Given the description of an element on the screen output the (x, y) to click on. 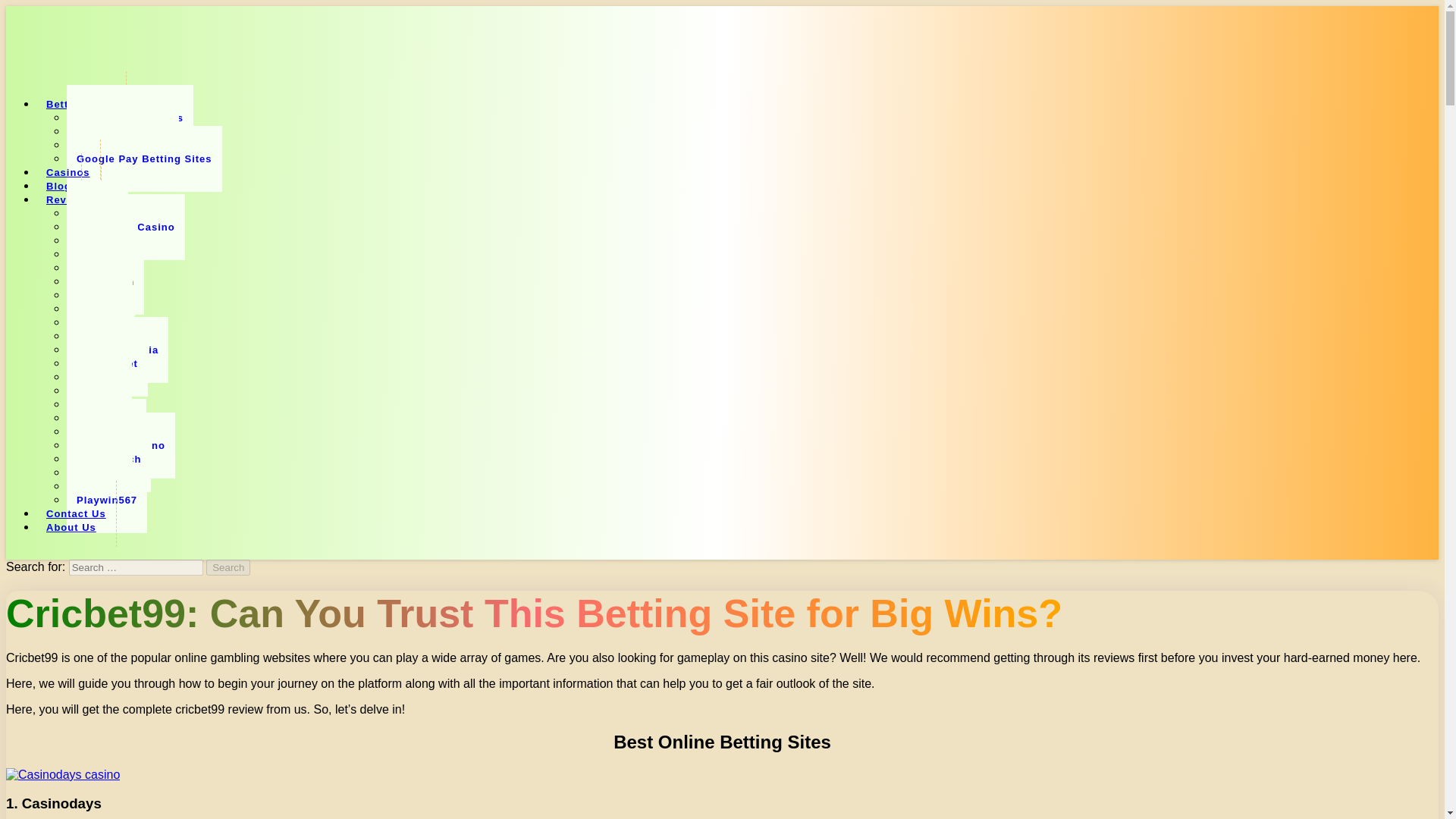
KheloExch (105, 281)
Dreamexch (106, 431)
24Betting (102, 268)
Betting Sites (81, 104)
Contact Us (76, 513)
Casinos (68, 172)
Satsport (99, 295)
Search (228, 567)
Lottoland India (117, 349)
Limeprobet (107, 363)
